Given the description of an element on the screen output the (x, y) to click on. 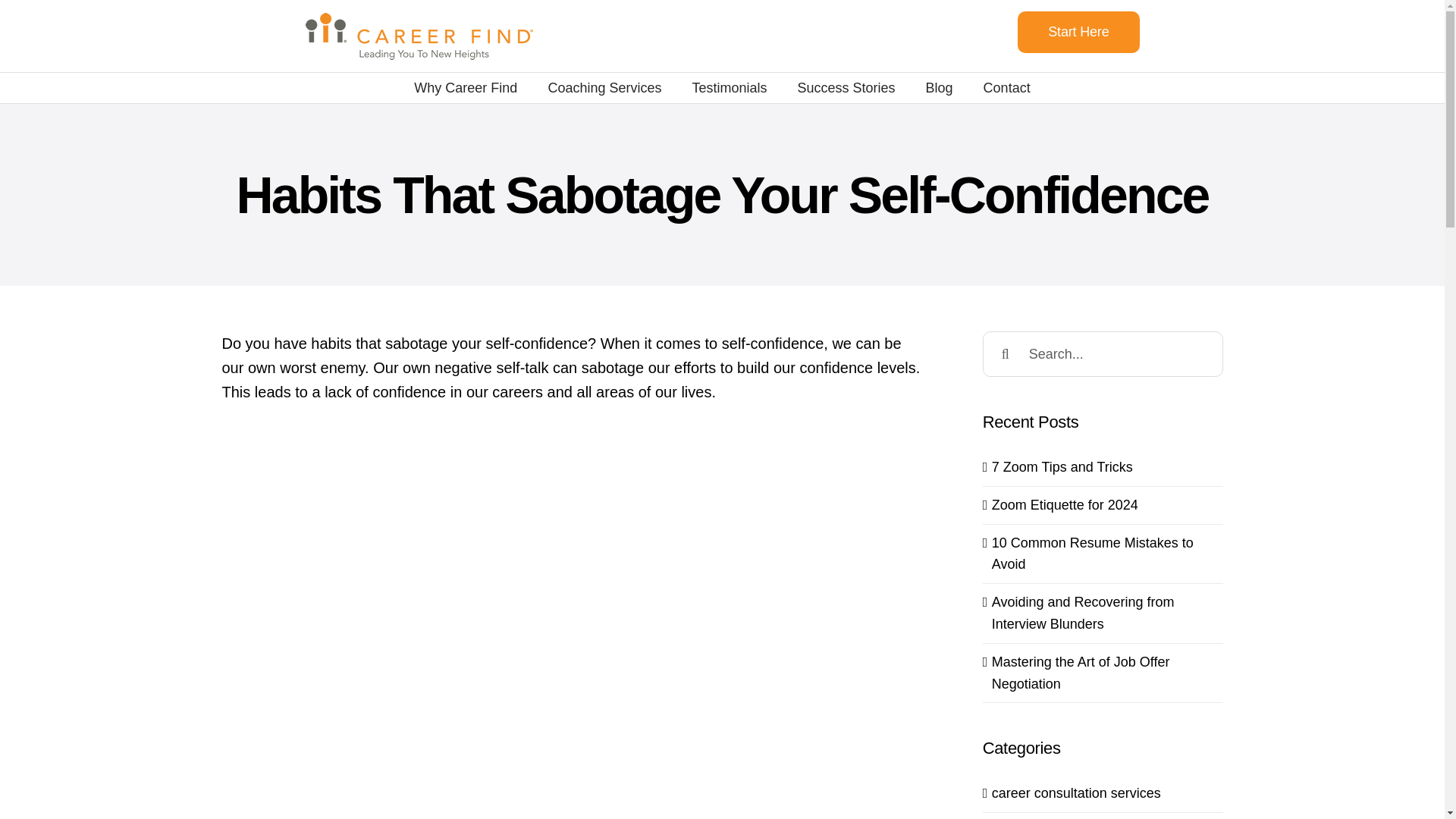
Success Stories (846, 87)
Avoiding and Recovering from Interview Blunders (1082, 612)
Mastering the Art of Job Offer Negotiation (1080, 672)
Contact (1007, 87)
Blog (939, 87)
Coaching Services (604, 87)
Start Here (1077, 32)
Why Career Find (464, 87)
7 Zoom Tips and Tricks (1061, 467)
career consultation services (1103, 793)
